Given the description of an element on the screen output the (x, y) to click on. 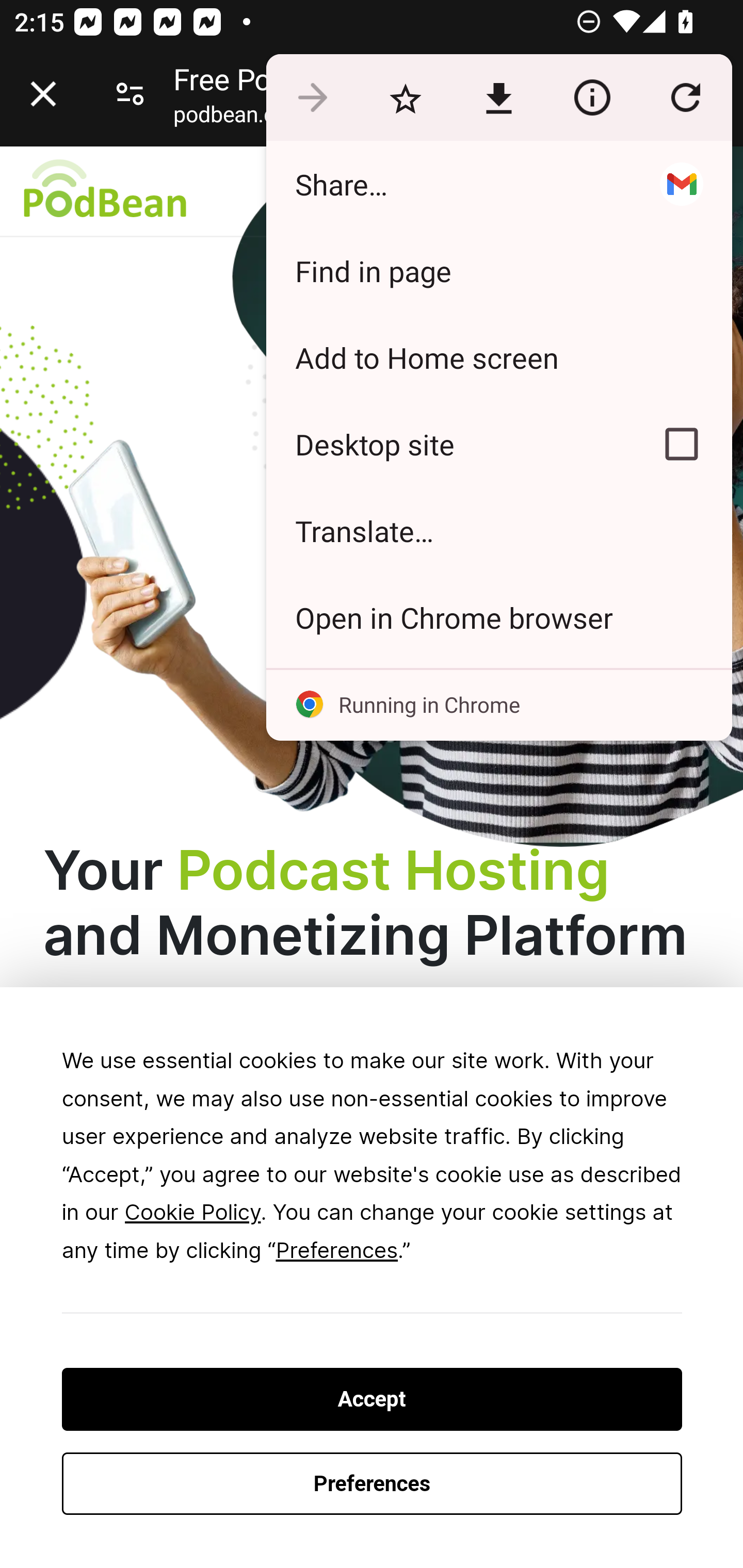
Go forward (311, 97)
Bookmark (404, 97)
Download this page (498, 97)
View site information (591, 97)
Refresh (684, 97)
Share… (447, 184)
Share via Gmail (680, 184)
Find in page (498, 270)
Add to Home screen (498, 357)
Desktop site Turn on Request desktop site (447, 444)
Translate… (498, 530)
Open in Chrome browser (498, 616)
